Given the description of an element on the screen output the (x, y) to click on. 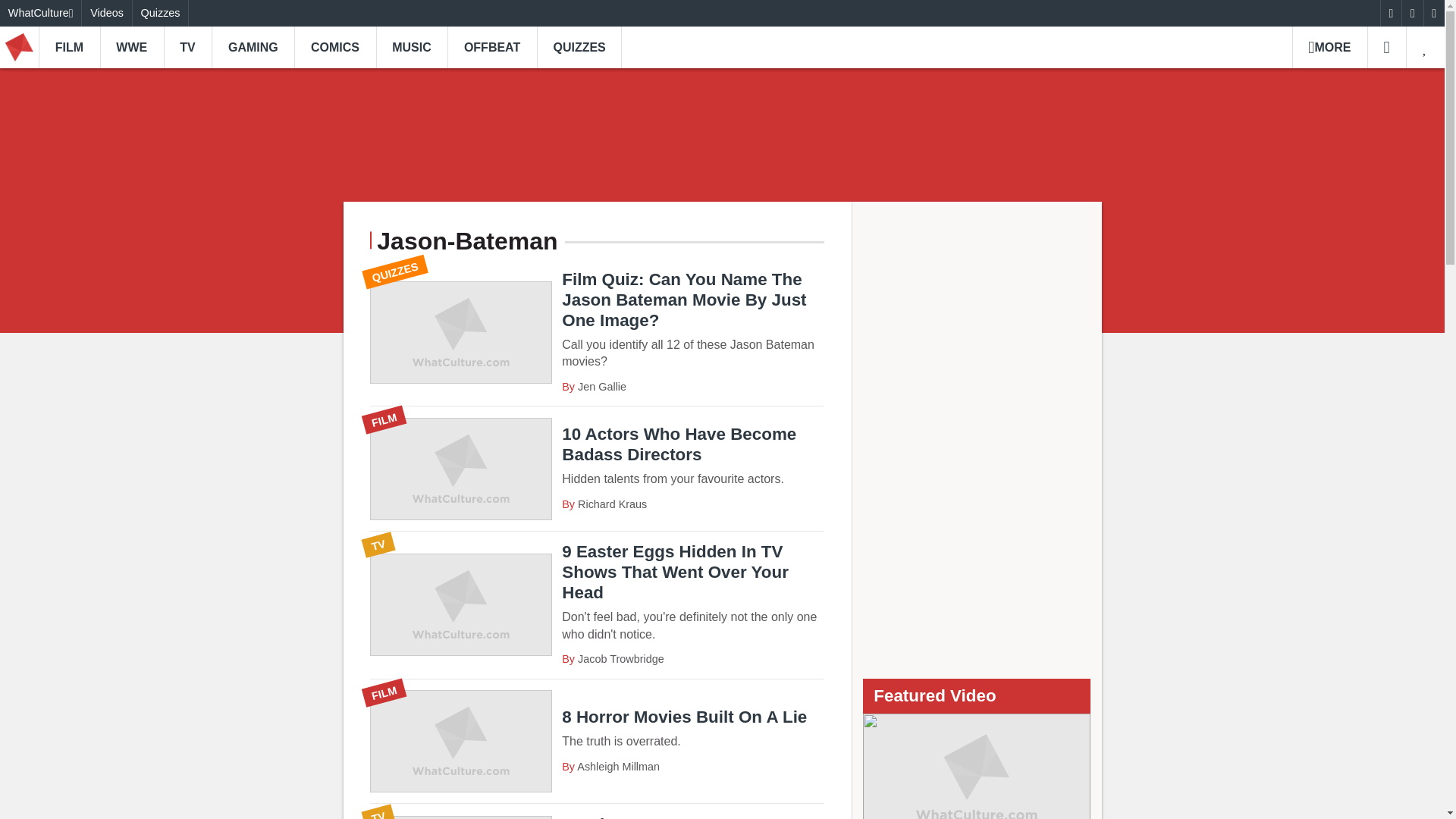
OFFBEAT (491, 46)
8 Horror Movies Built On A Lie (597, 741)
Quizzes (160, 13)
WWE (131, 46)
QUIZZES (580, 46)
FILM (69, 46)
MUSIC (411, 46)
9 Easter Eggs Hidden In TV Shows That Went Over Your Head (597, 604)
SEARCH (1386, 46)
Search (1386, 46)
